Given the description of an element on the screen output the (x, y) to click on. 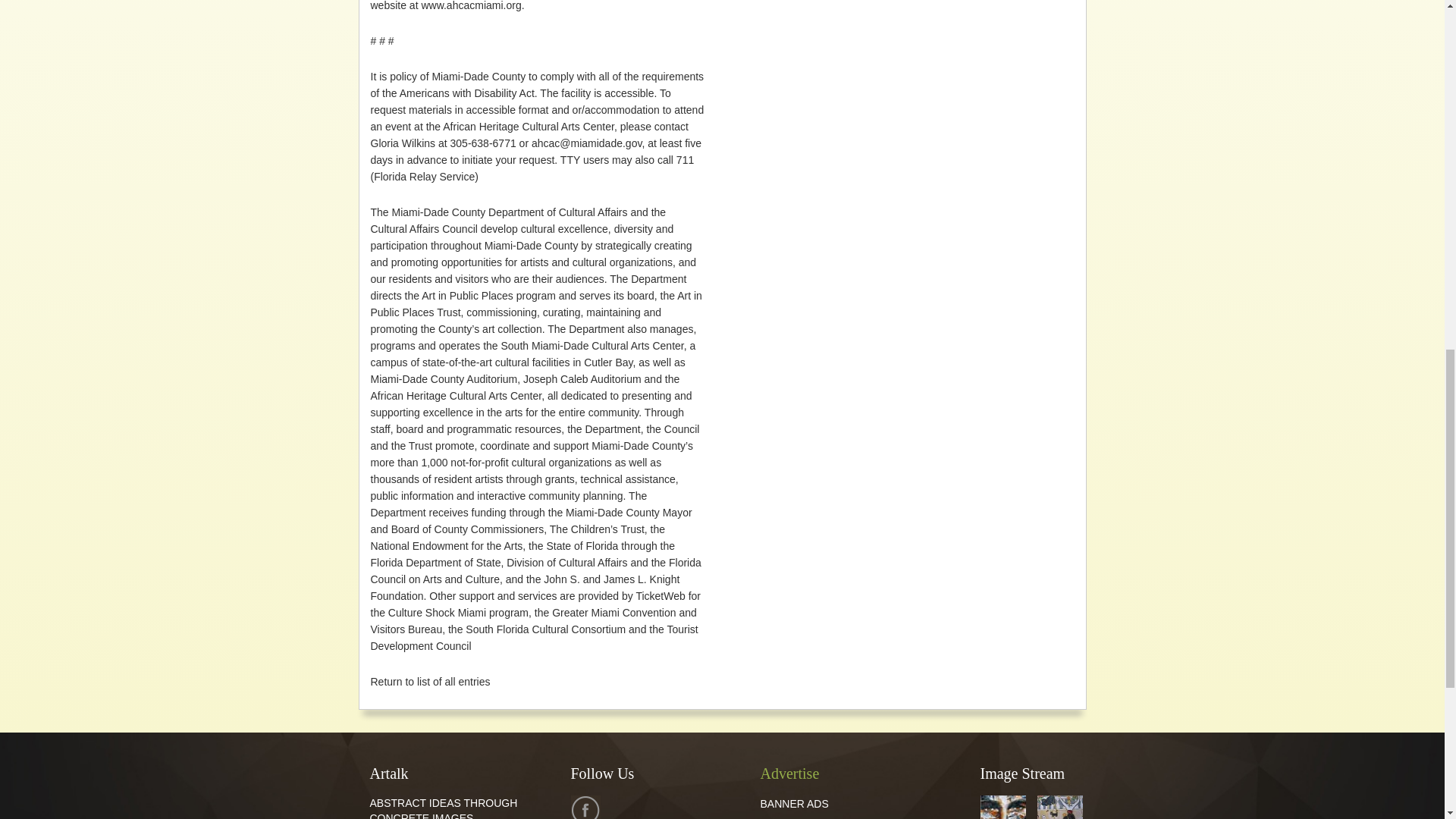
ABSTRACT IDEAS THROUGH CONCRETE IMAGES (443, 807)
BANNER ADS (794, 803)
Return to list of all entries (429, 681)
